Given the description of an element on the screen output the (x, y) to click on. 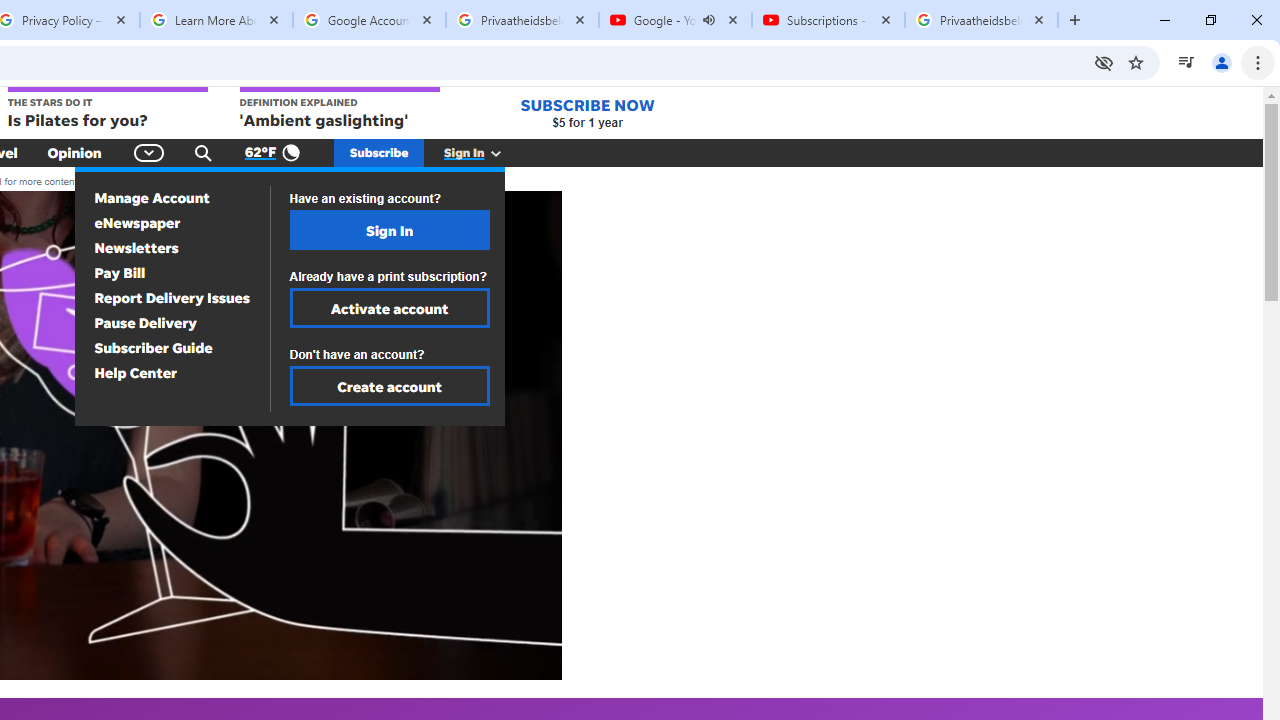
Pause Delivery (145, 322)
Newsletters (136, 248)
SUBSCRIBE NOW $5 for 1 year (587, 112)
Google - YouTube - Audio playing (675, 20)
